Given the description of an element on the screen output the (x, y) to click on. 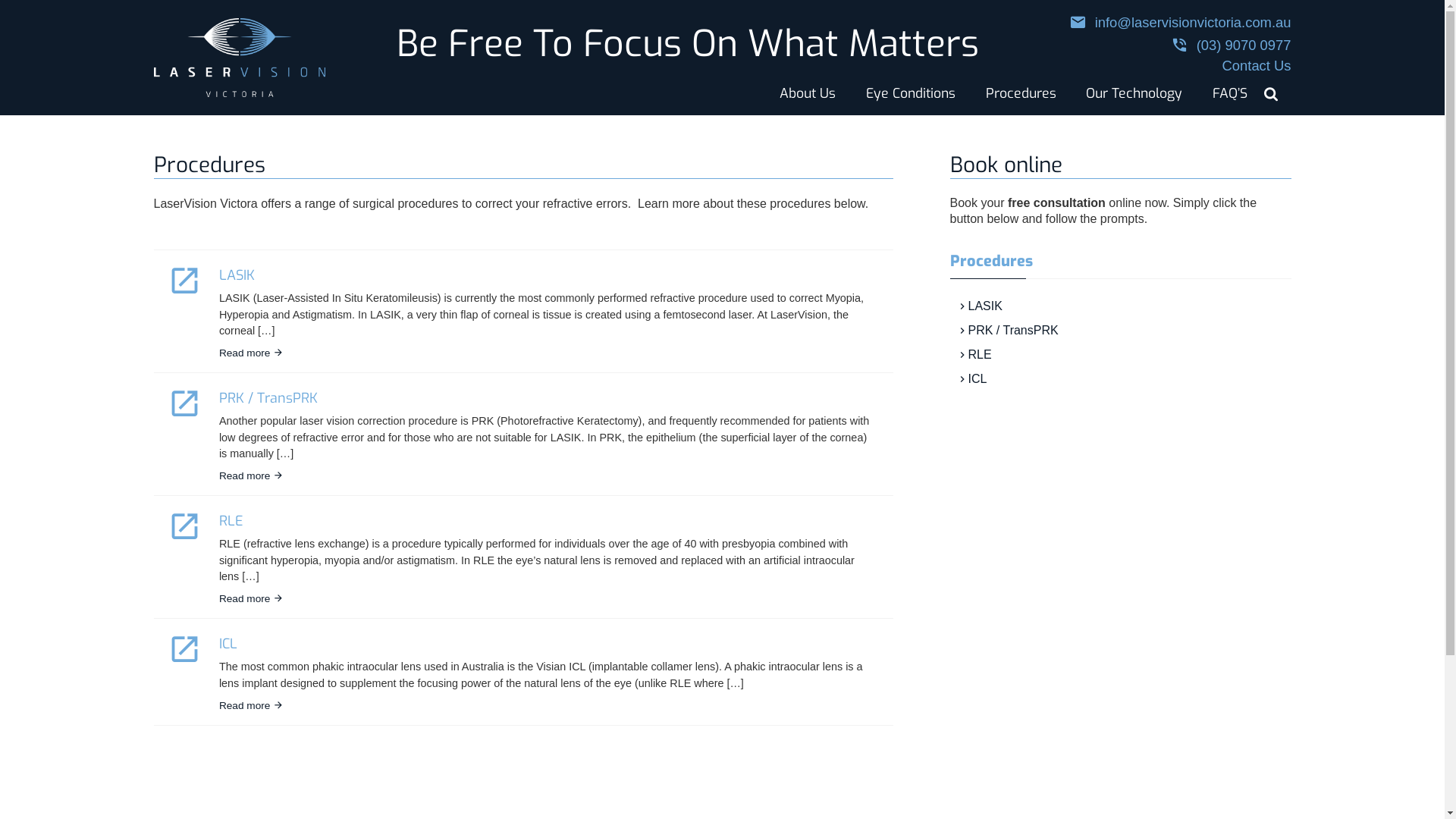
LASIK Element type: text (236, 275)
PRK / TransPRK Element type: text (1006, 330)
Procedures Element type: text (990, 261)
Procedures Element type: text (1020, 93)
ICL Element type: text (970, 379)
Contact Us Element type: text (1180, 65)
LASIK Element type: text (978, 306)
RLE Element type: text (973, 354)
info@laservisionvictoria.com.au Element type: text (1180, 21)
PRK / TransPRK Element type: text (268, 398)
(03) 9070 0977 Element type: text (1180, 43)
Read more Element type: text (251, 705)
Our Technology Element type: text (1134, 93)
Read more Element type: text (251, 353)
RLE Element type: text (231, 520)
Eye Conditions Element type: text (910, 93)
Book online Element type: text (1005, 164)
Read more Element type: text (251, 475)
About Us Element type: text (807, 93)
ICL Element type: text (228, 643)
Read more Element type: text (251, 598)
